Given the description of an element on the screen output the (x, y) to click on. 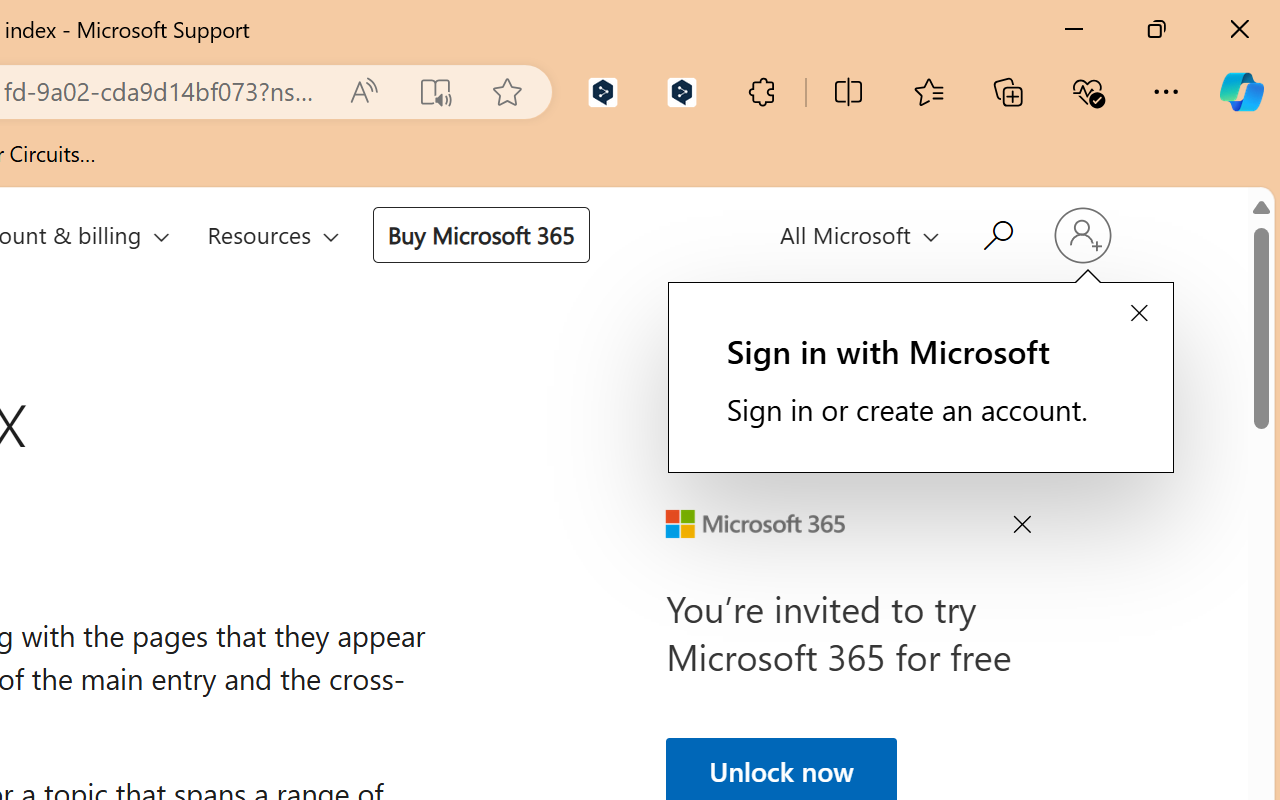
Copilot (Ctrl+Shift+.) (1241, 91)
